Given the description of an element on the screen output the (x, y) to click on. 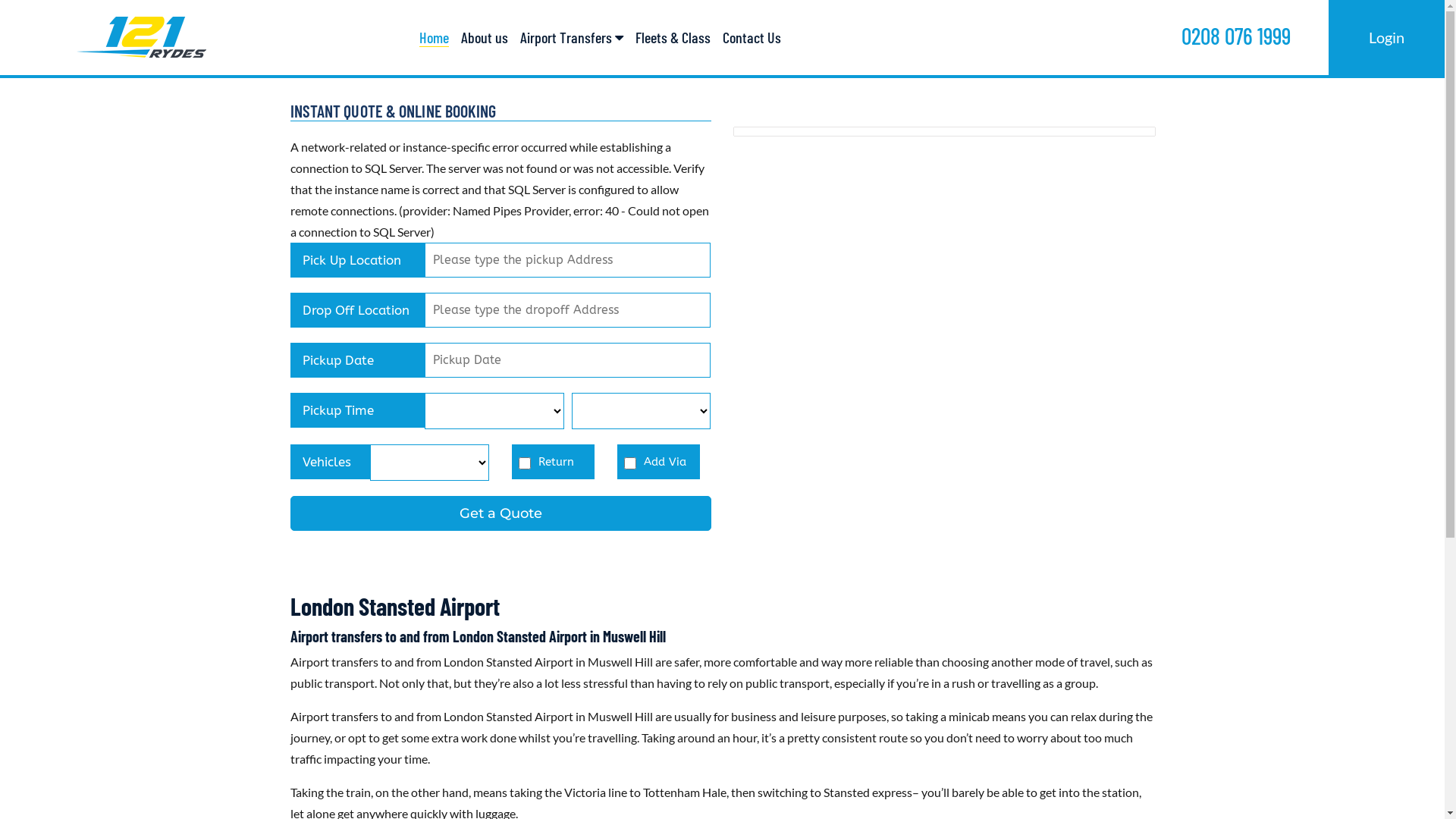
Get a Quote Element type: text (499, 512)
0208 076 1999 Element type: text (1235, 34)
Airport Transfers Element type: text (571, 37)
Contact Us Element type: text (751, 37)
About us Element type: text (484, 37)
Home Element type: text (433, 37)
Login Element type: text (1386, 36)
Fleets & Class Element type: text (672, 37)
